Given the description of an element on the screen output the (x, y) to click on. 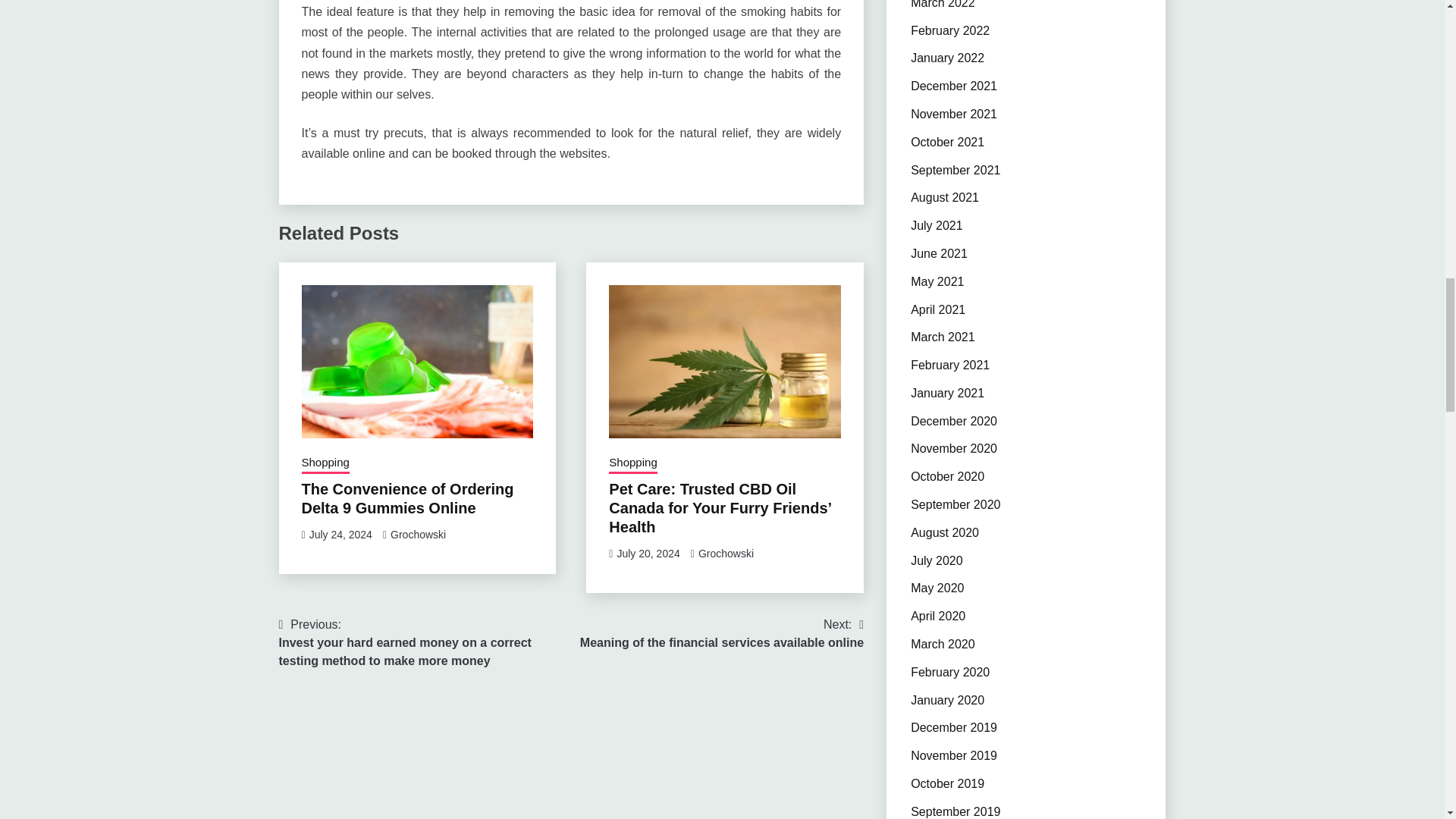
Grochowski (417, 534)
Grochowski (726, 553)
Shopping (325, 464)
July 20, 2024 (647, 553)
The Convenience of Ordering Delta 9 Gummies Online (407, 498)
Shopping (721, 633)
July 24, 2024 (632, 464)
